Given the description of an element on the screen output the (x, y) to click on. 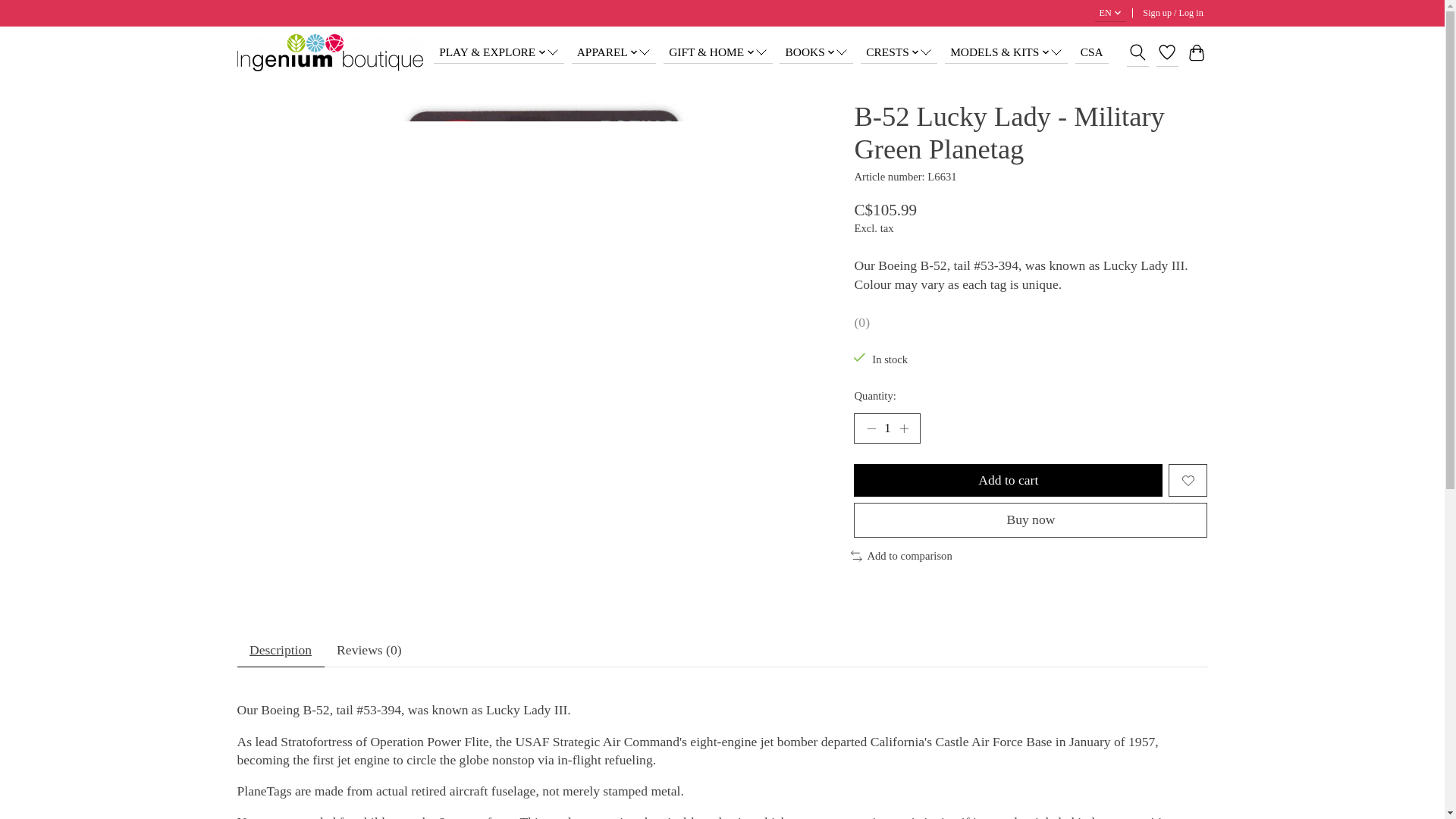
My account (1173, 13)
Share on Pinterest (1178, 55)
Share on Twitter (1135, 55)
APPAREL (614, 52)
Share by Email (1200, 55)
EN (1110, 13)
1 (886, 428)
Share on Facebook (1157, 55)
BOOKS (815, 52)
